Given the description of an element on the screen output the (x, y) to click on. 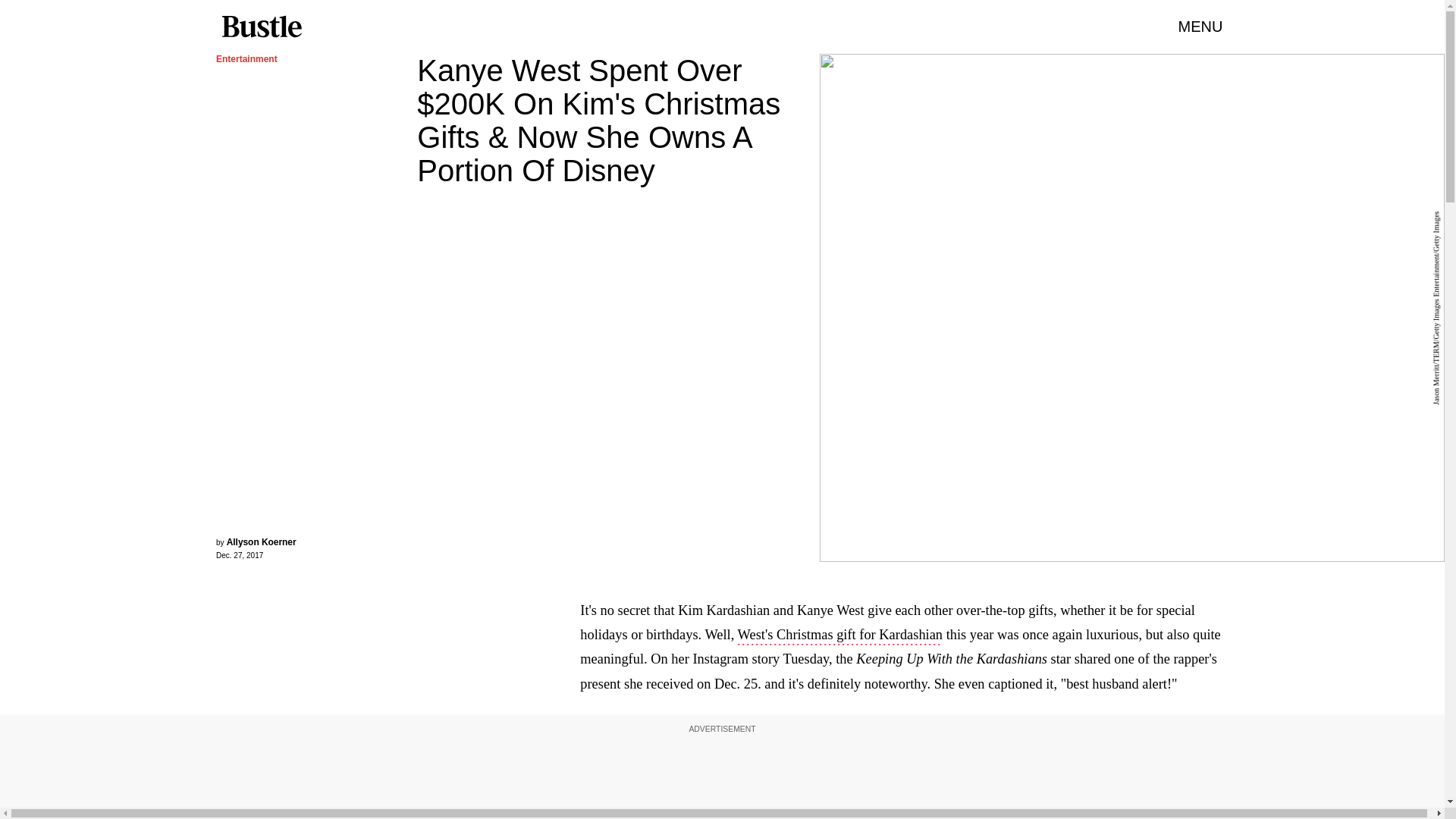
Allyson Koerner (262, 542)
West's Christmas gift for Kardashian (840, 636)
Bustle (261, 26)
